Given the description of an element on the screen output the (x, y) to click on. 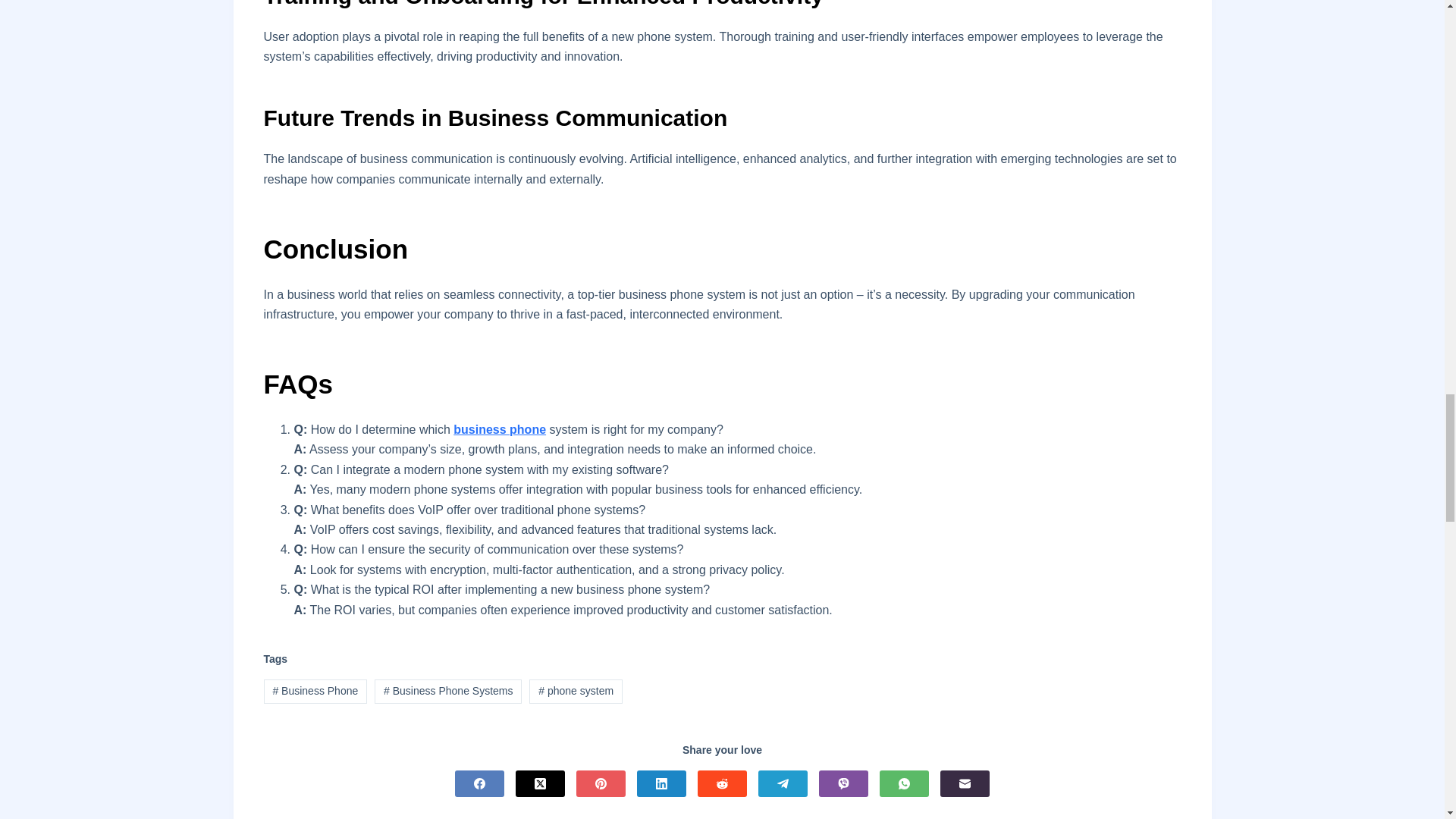
business phone (499, 429)
